Given the description of an element on the screen output the (x, y) to click on. 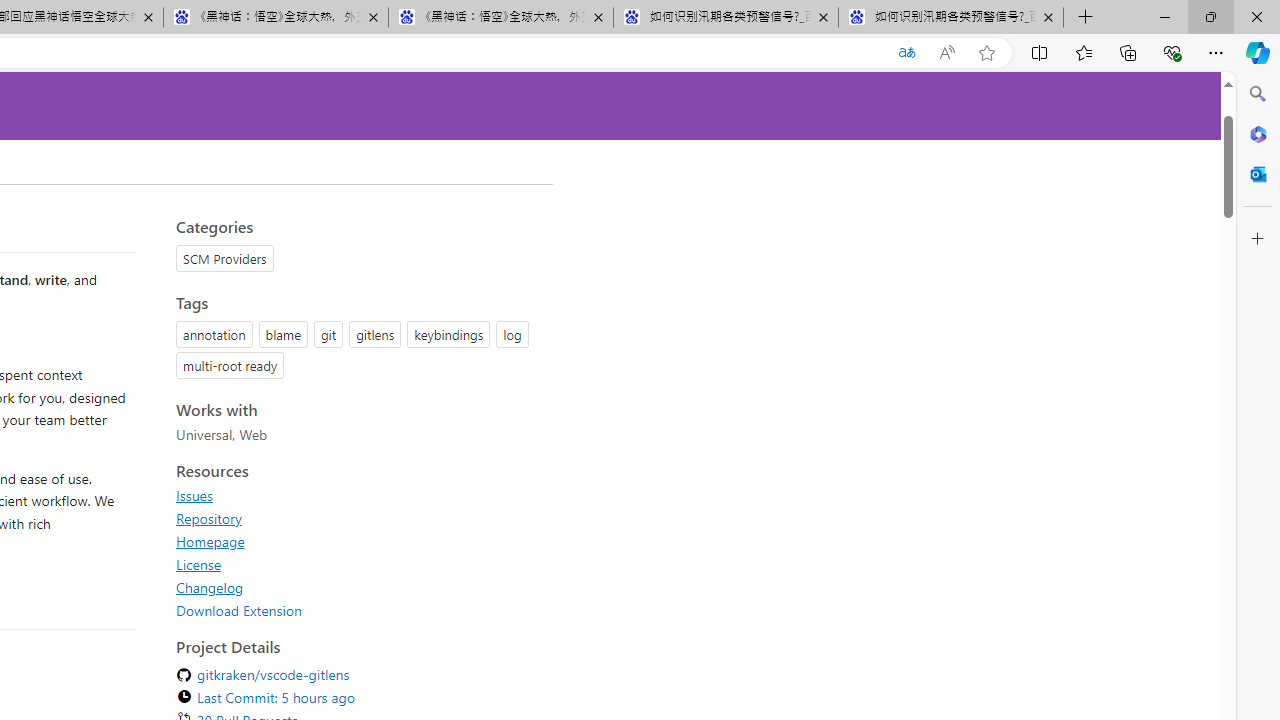
Issues (358, 495)
Translated (906, 53)
Repository (358, 518)
License (198, 564)
Download Extension (358, 610)
Changelog (210, 587)
